Given the description of an element on the screen output the (x, y) to click on. 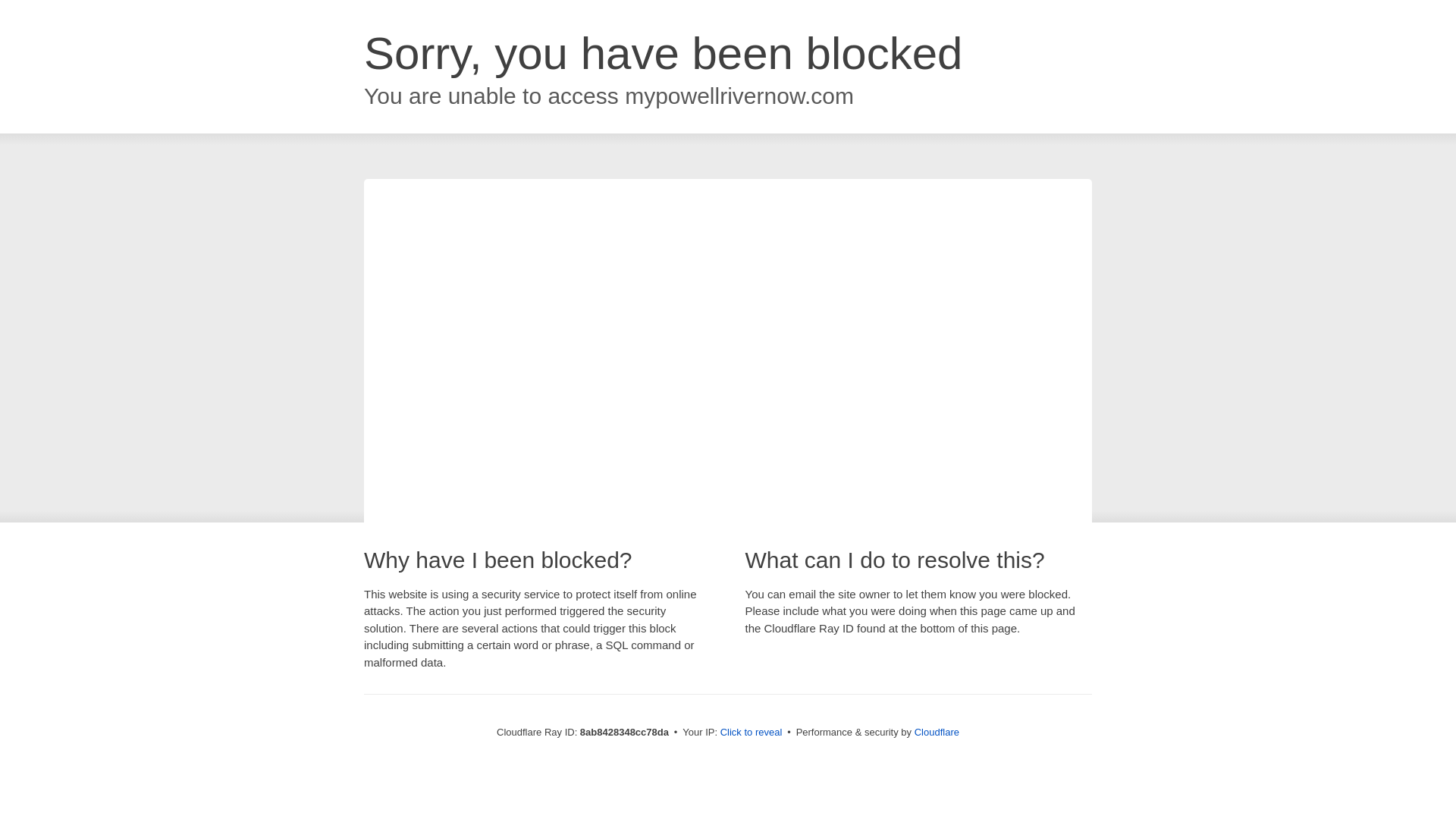
Cloudflare (936, 731)
Click to reveal (751, 732)
